Given the description of an element on the screen output the (x, y) to click on. 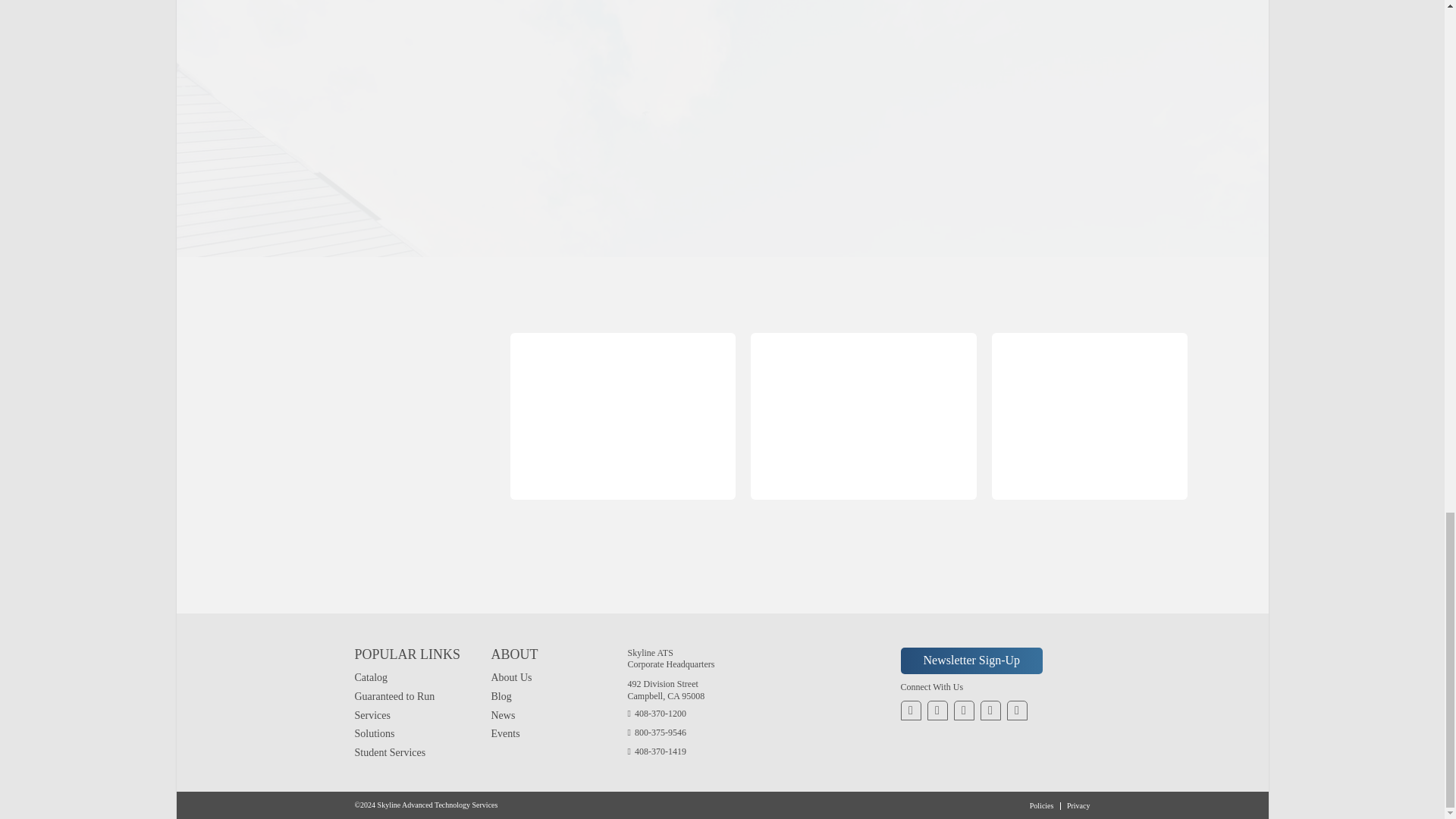
Newsletter Sign-Up (972, 660)
